Given the description of an element on the screen output the (x, y) to click on. 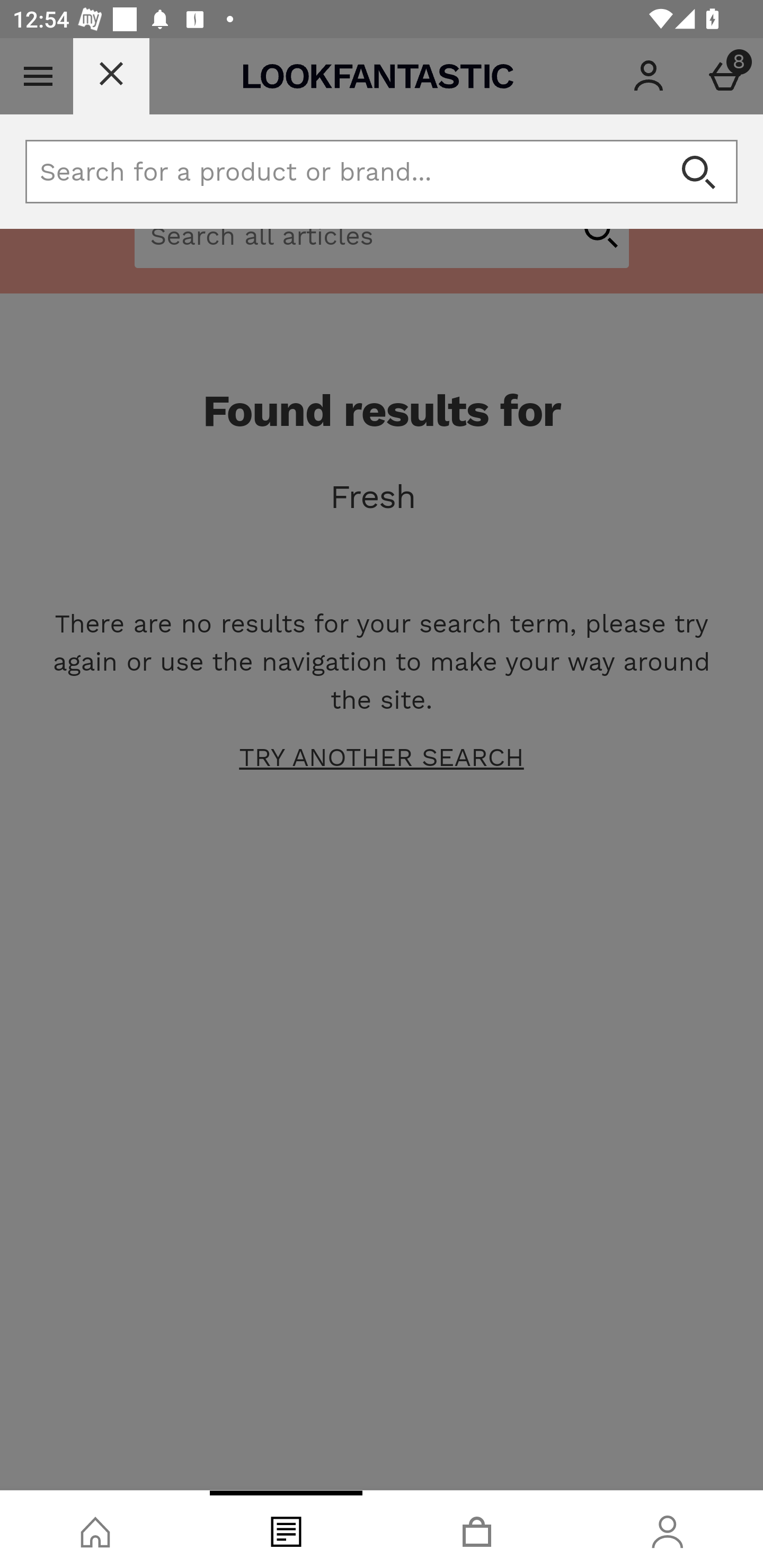
Close (111, 75)
Open search (697, 171)
Shop, tab, 1 of 4 (95, 1529)
Blog, tab, 2 of 4 (285, 1529)
Basket, tab, 3 of 4 (476, 1529)
Account, tab, 4 of 4 (667, 1529)
